Given the description of an element on the screen output the (x, y) to click on. 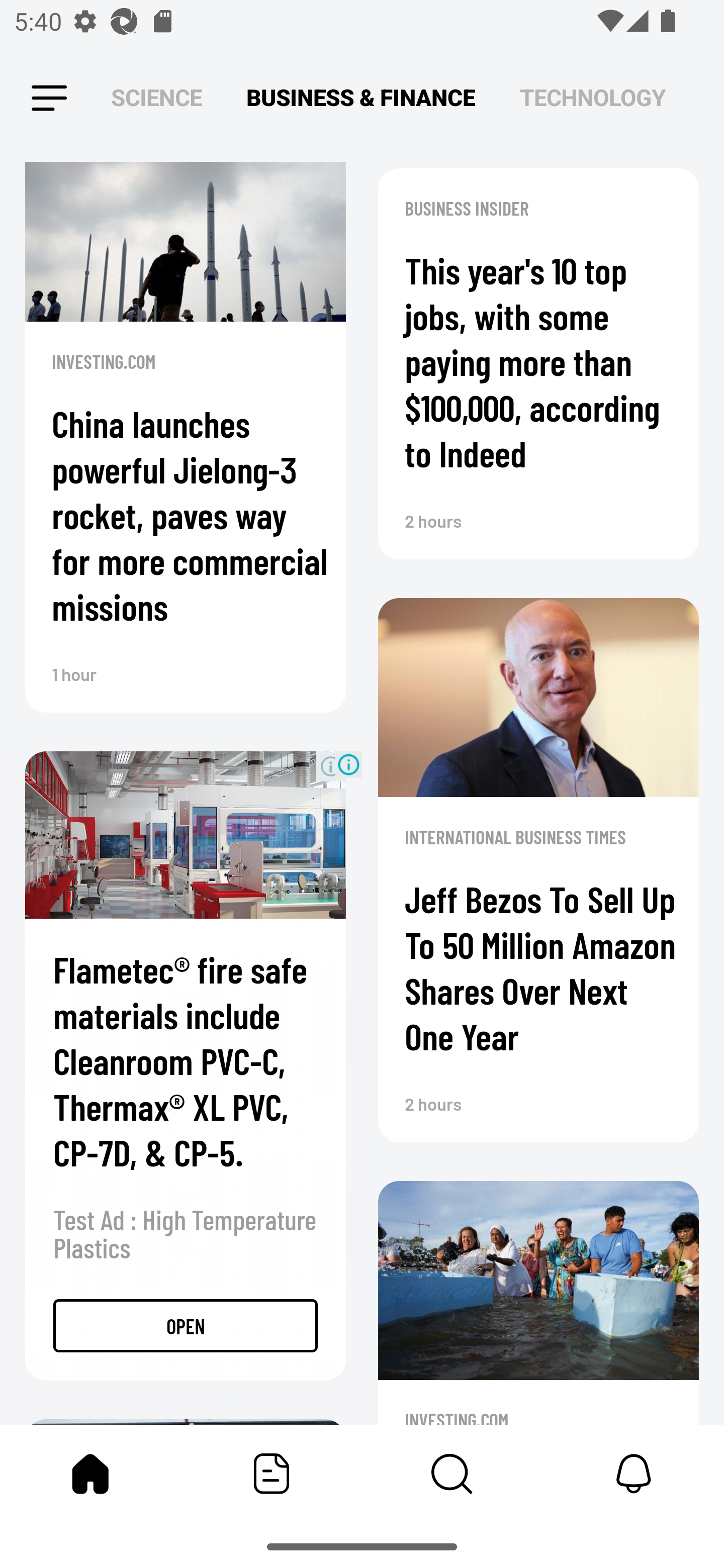
Leading Icon (49, 98)
SCIENCE (155, 97)
TECHNOLOGY (592, 97)
Ad Choices Icon (348, 764)
Featured (271, 1473)
Content Store (452, 1473)
Notifications (633, 1473)
